Given the description of an element on the screen output the (x, y) to click on. 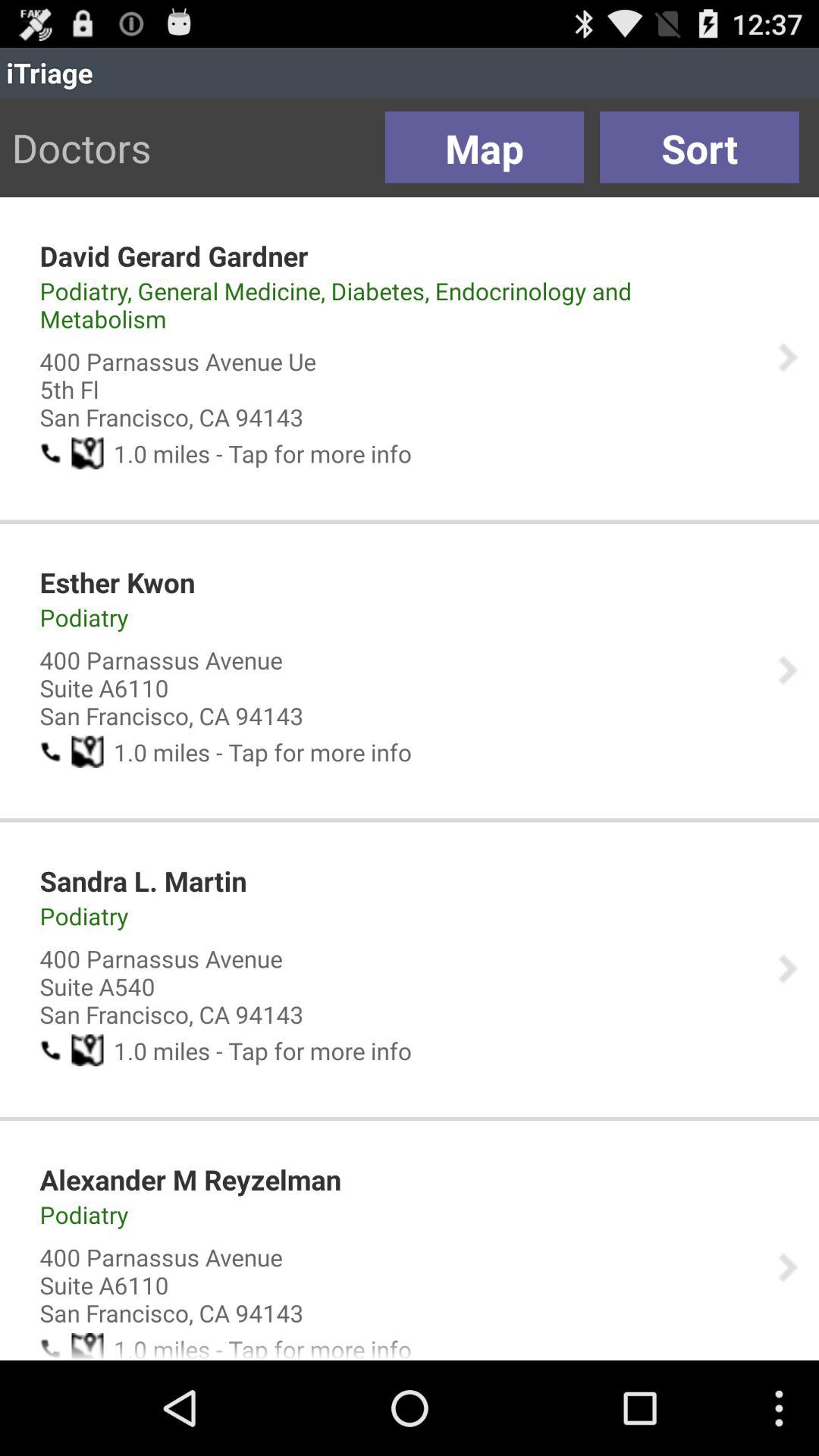
launch the david gerard gardner (173, 255)
